Given the description of an element on the screen output the (x, y) to click on. 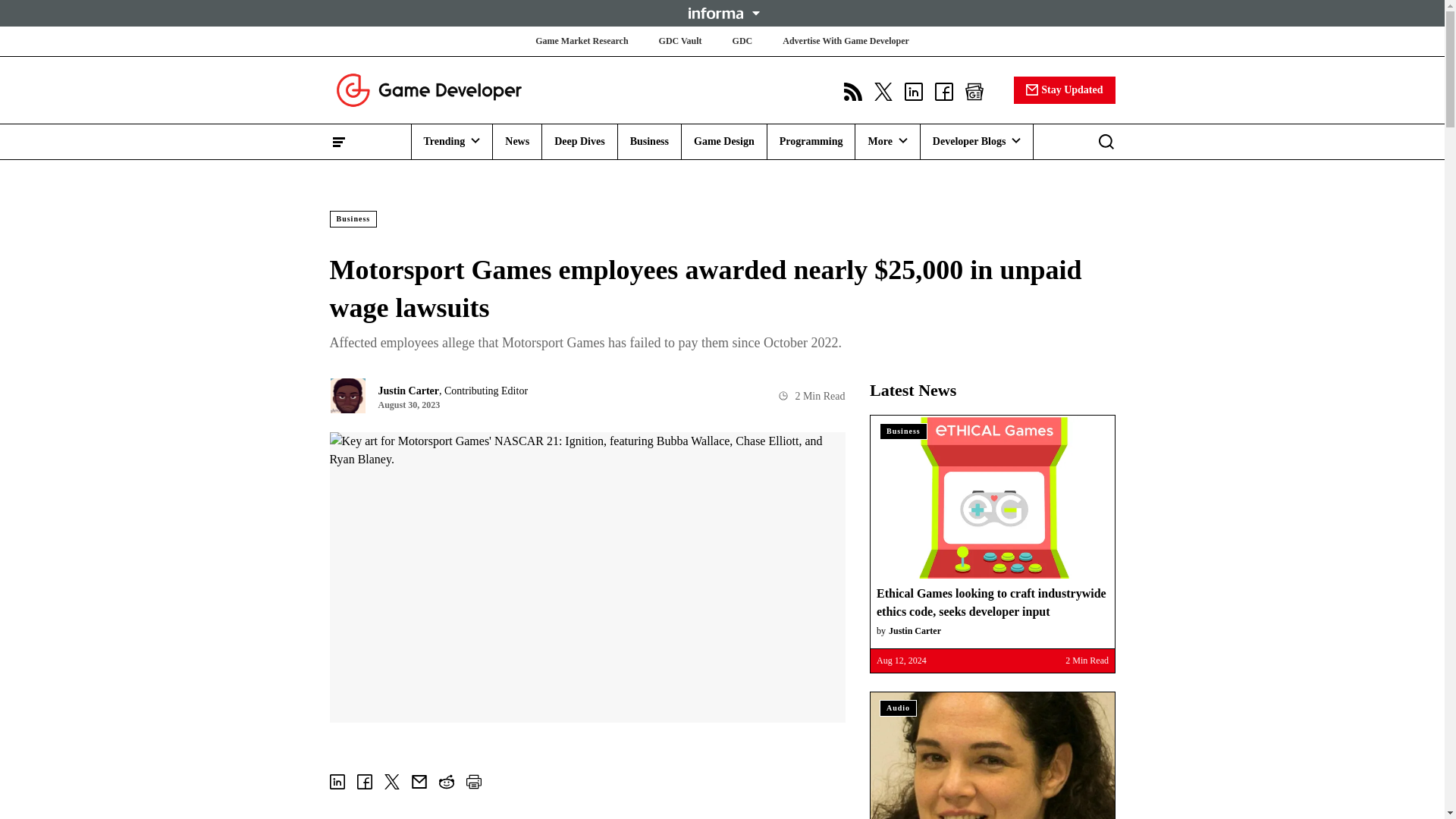
Stay Updated (1064, 89)
Advertise With Game Developer (845, 41)
Programming (810, 141)
Deep Dives (579, 141)
GDC (742, 41)
GDC Vault (680, 41)
Picture of Justin Carter (347, 395)
Game Market Research (581, 41)
News (517, 141)
